Given the description of an element on the screen output the (x, y) to click on. 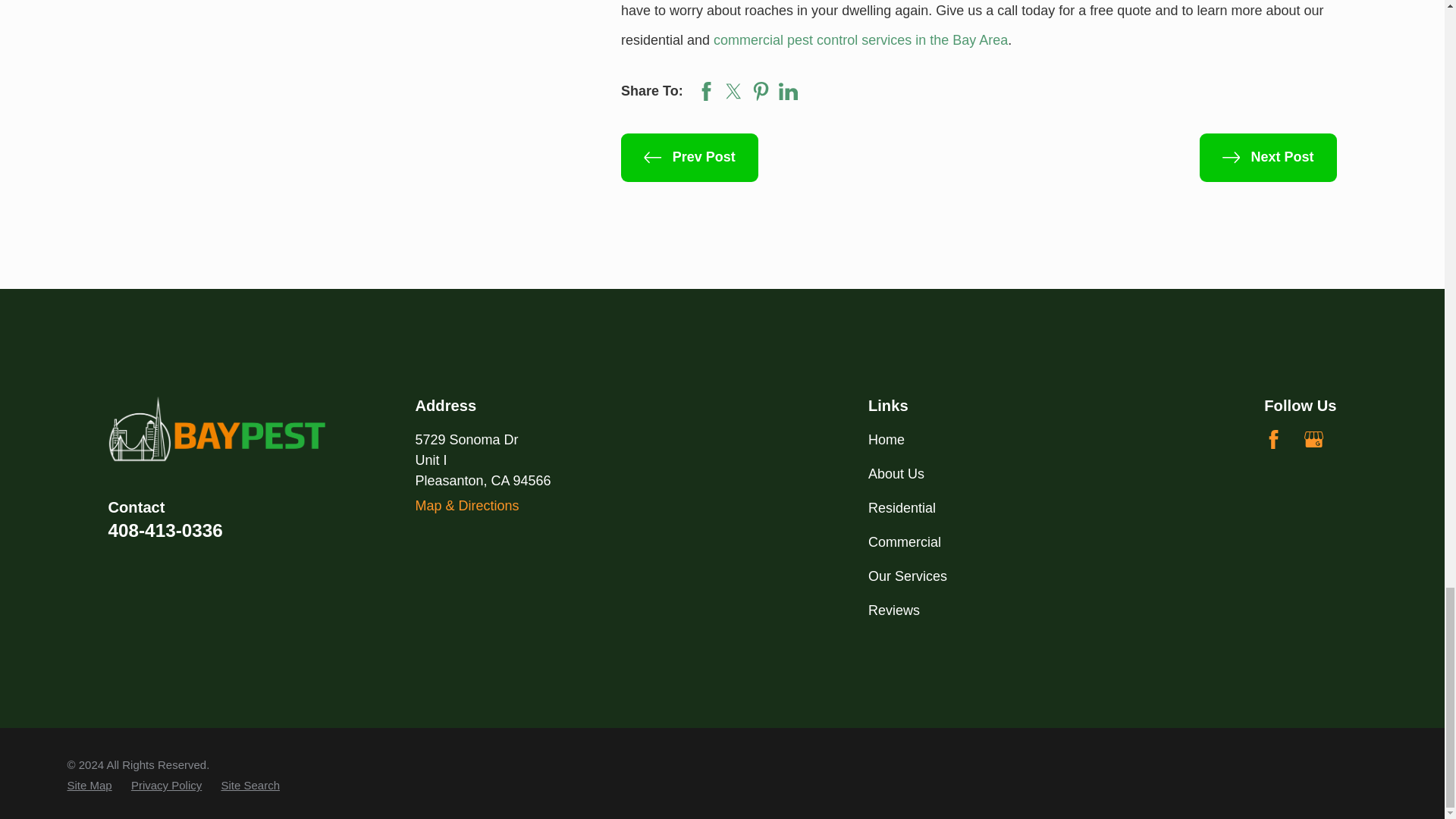
Google Business Profile (1313, 438)
Home (216, 429)
Facebook (1272, 438)
